Given the description of an element on the screen output the (x, y) to click on. 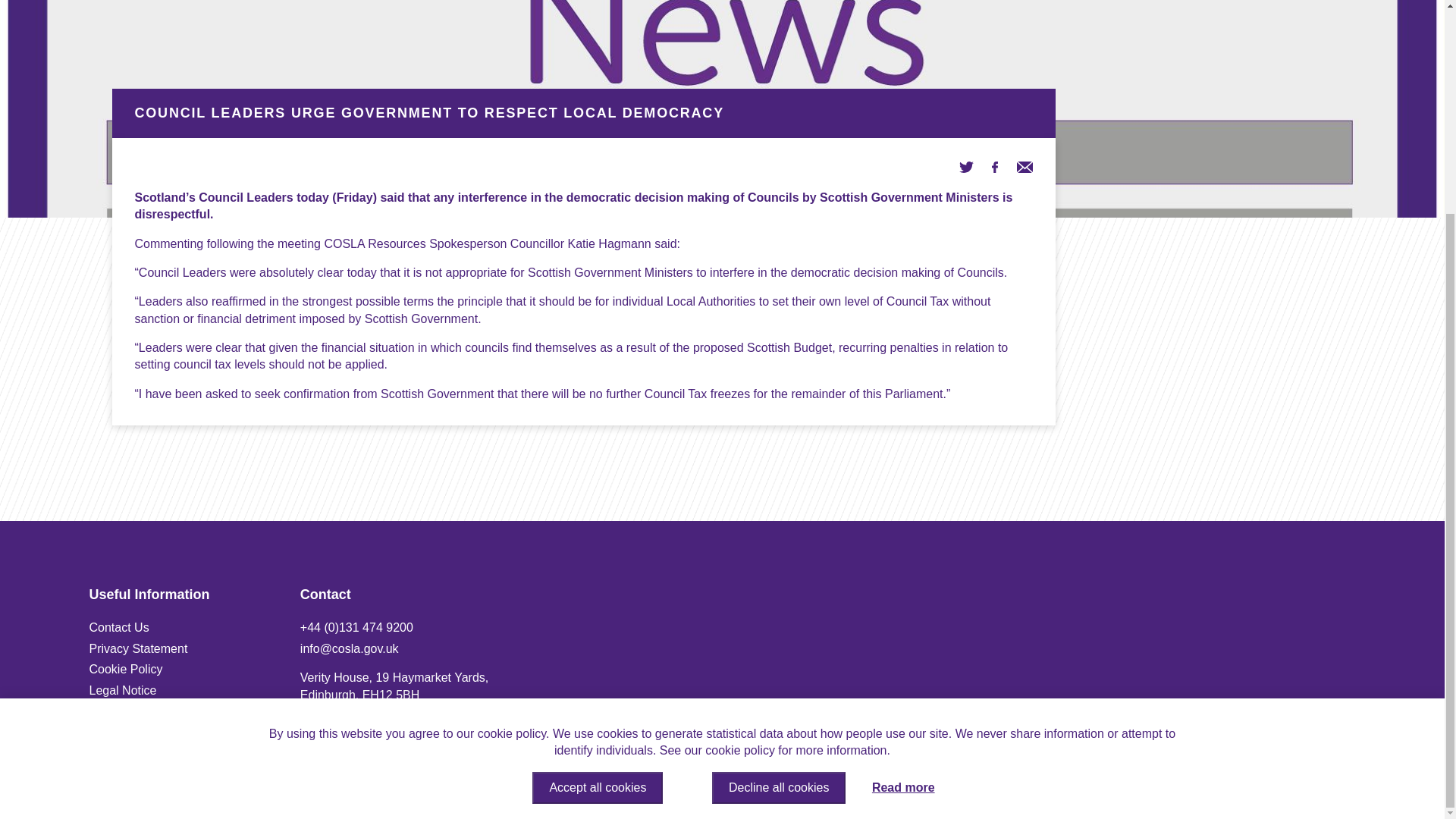
Link to Legal Notice (122, 689)
Link to Privacy Statement (137, 648)
Contact Us (118, 626)
Social media icond for twitter-ico.svg Social media icon (1249, 782)
Link to Cookie Policy (125, 668)
Social media icond for youtube.svg Social media icon (1297, 782)
Social media icond for facebook.svg Social media icon (1346, 782)
Send an email (1024, 165)
Go to Twitter page (965, 165)
Privacy Statement (137, 648)
Link to Contact Us (118, 626)
